Given the description of an element on the screen output the (x, y) to click on. 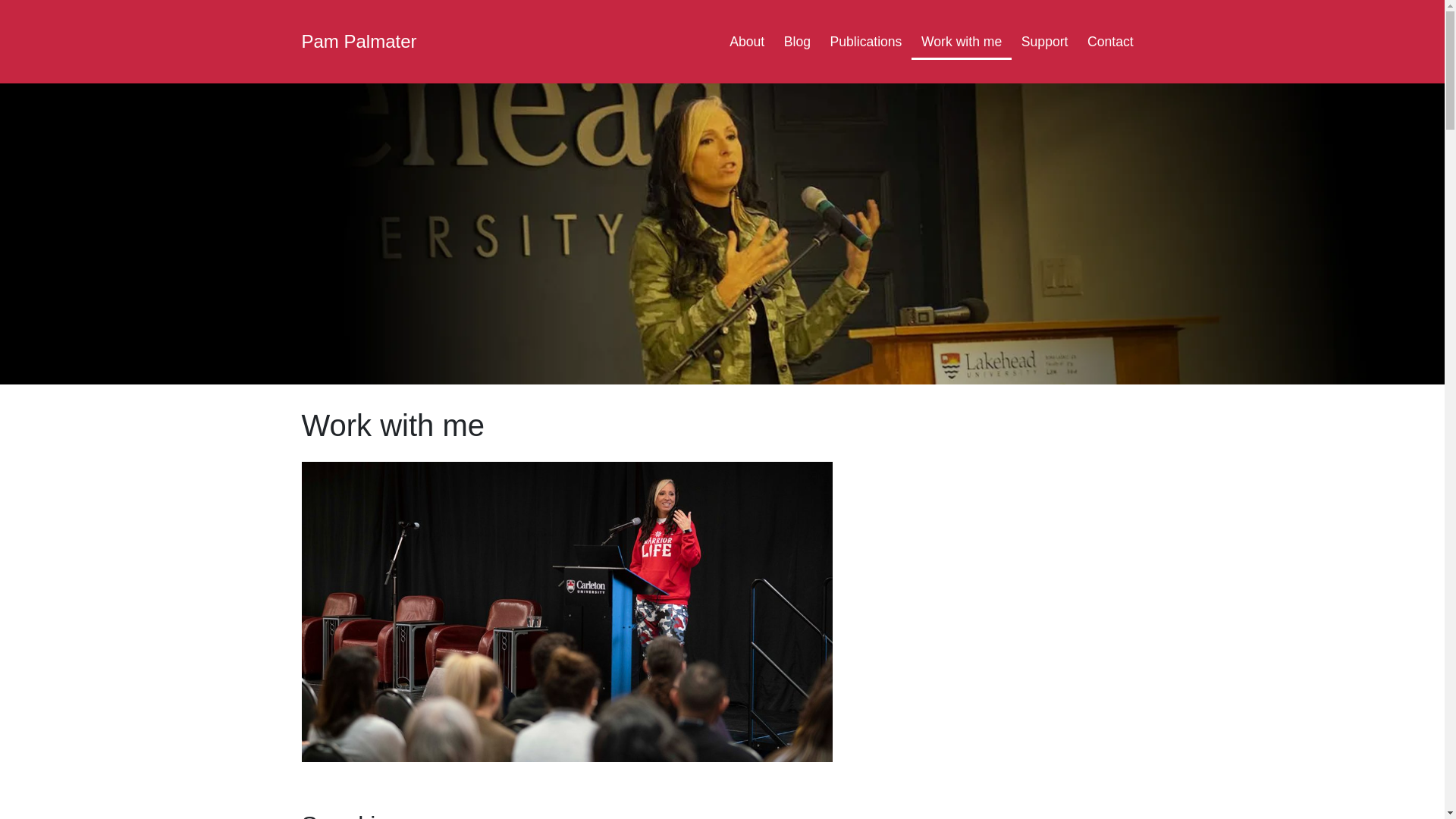
Pam Palmater (358, 41)
Work with me (961, 41)
Blog (797, 41)
Publications (866, 41)
Support (1044, 41)
Contact (1109, 41)
About (746, 41)
